Given the description of an element on the screen output the (x, y) to click on. 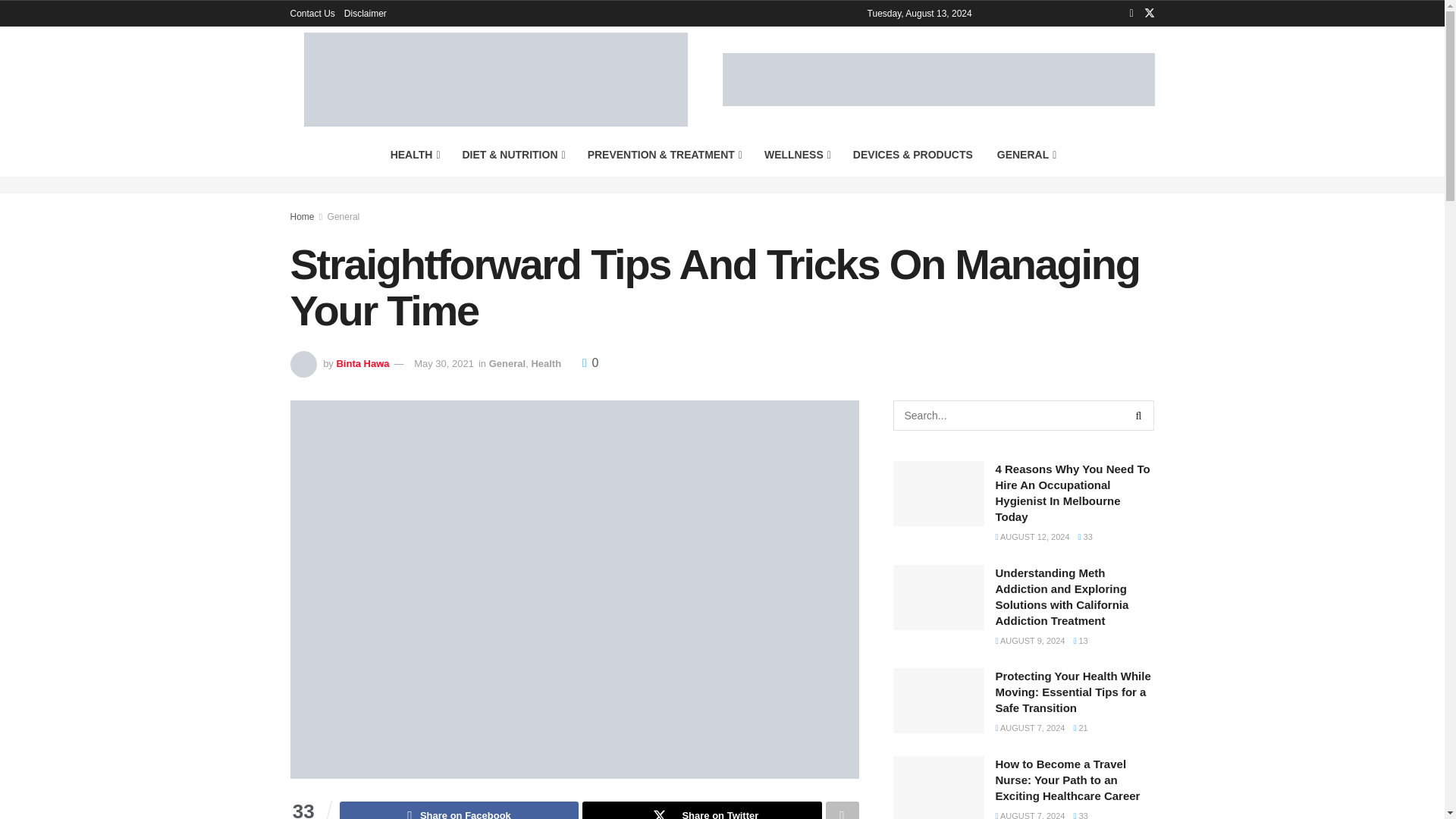
GENERAL (1026, 154)
HEALTH (413, 154)
Contact Us (311, 13)
Disclaimer (365, 13)
WELLNESS (796, 154)
